Given the description of an element on the screen output the (x, y) to click on. 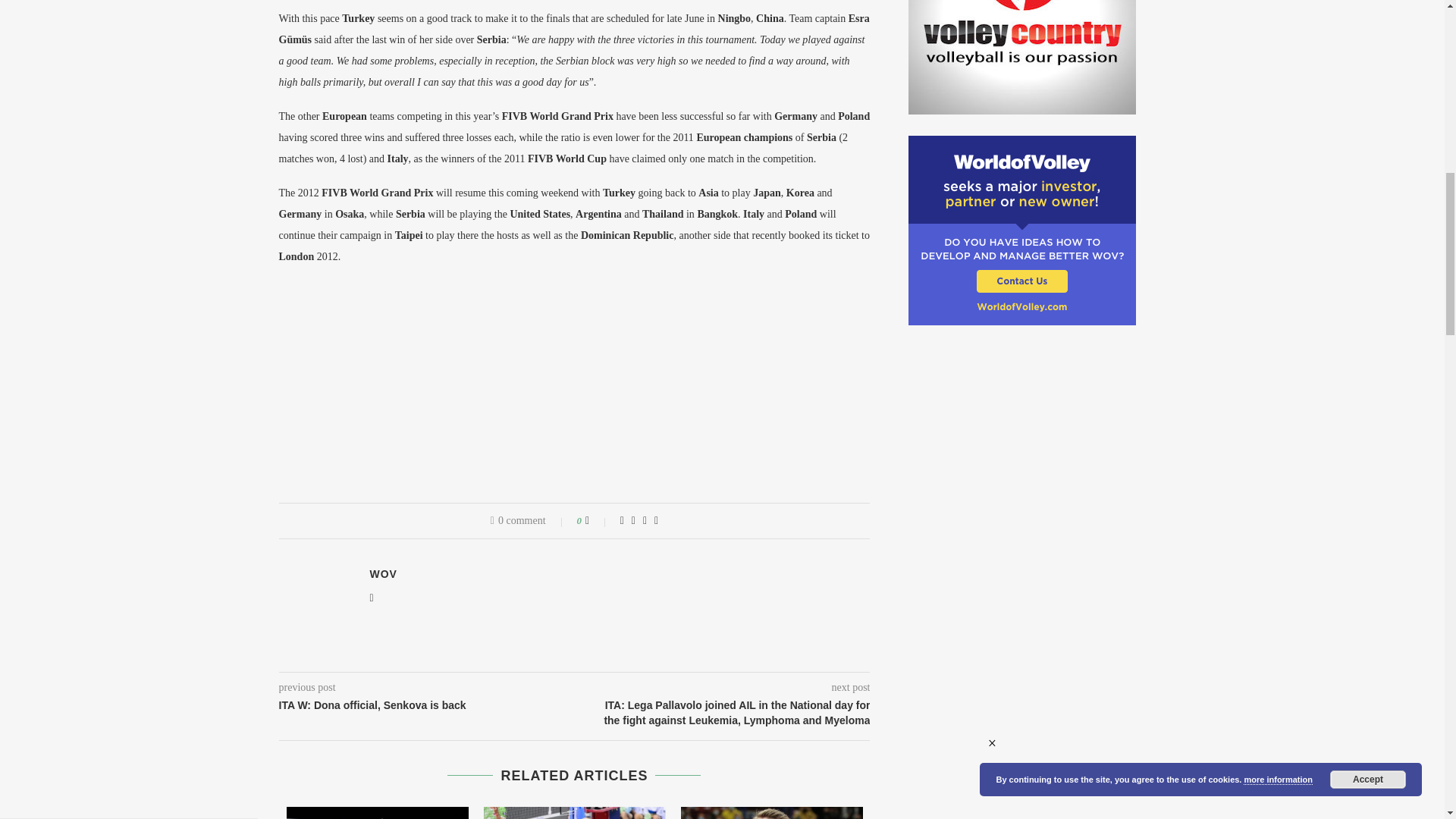
Like (597, 521)
Posts by WoV (383, 573)
Poland Triumphs at 21st Wagner Memorial Tournament (574, 812)
TUR M: Galatasaray HDI Sigorta Signs Jiri Kovar (772, 812)
